Given the description of an element on the screen output the (x, y) to click on. 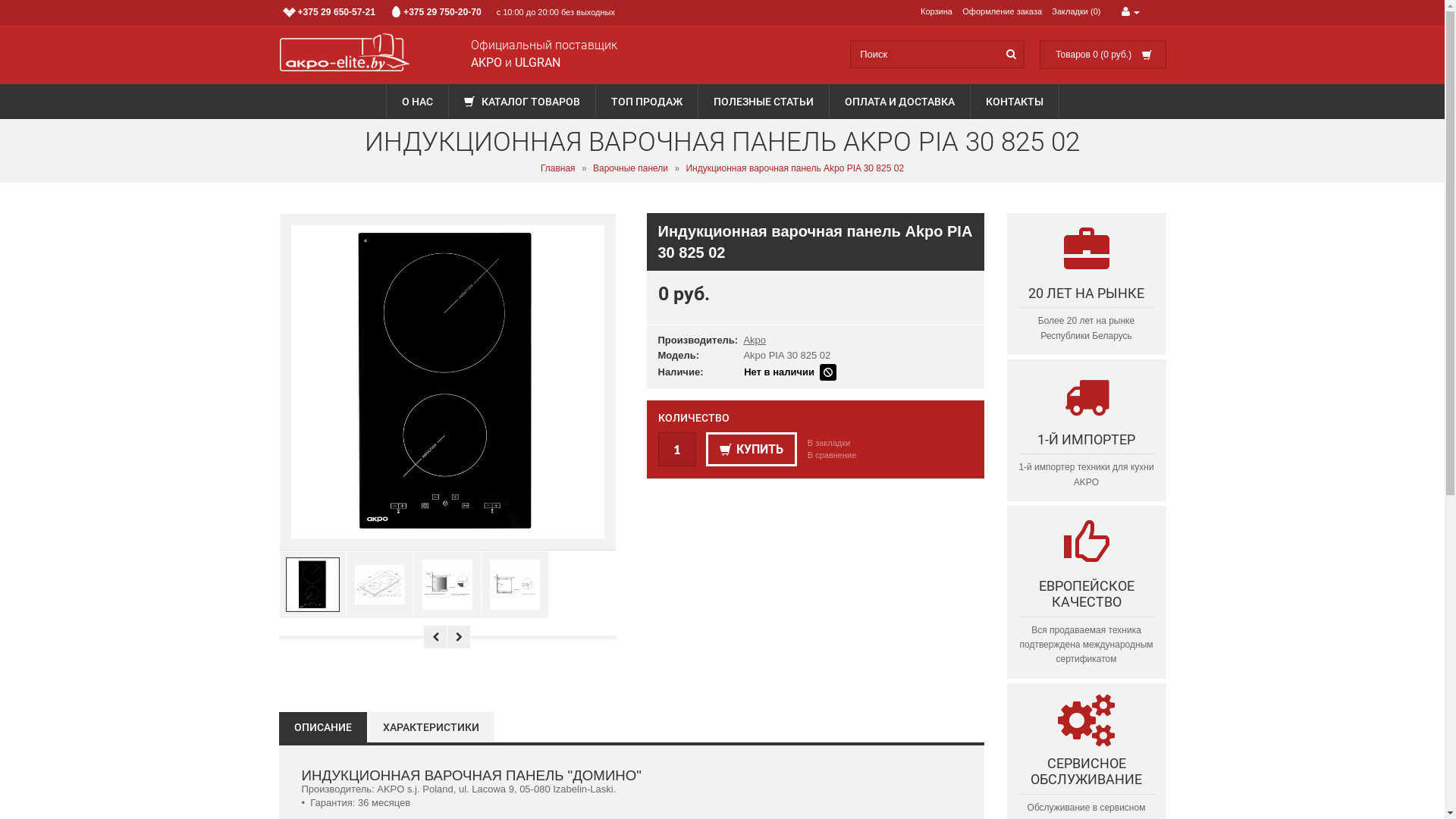
Akpo Element type: text (754, 339)
